Given the description of an element on the screen output the (x, y) to click on. 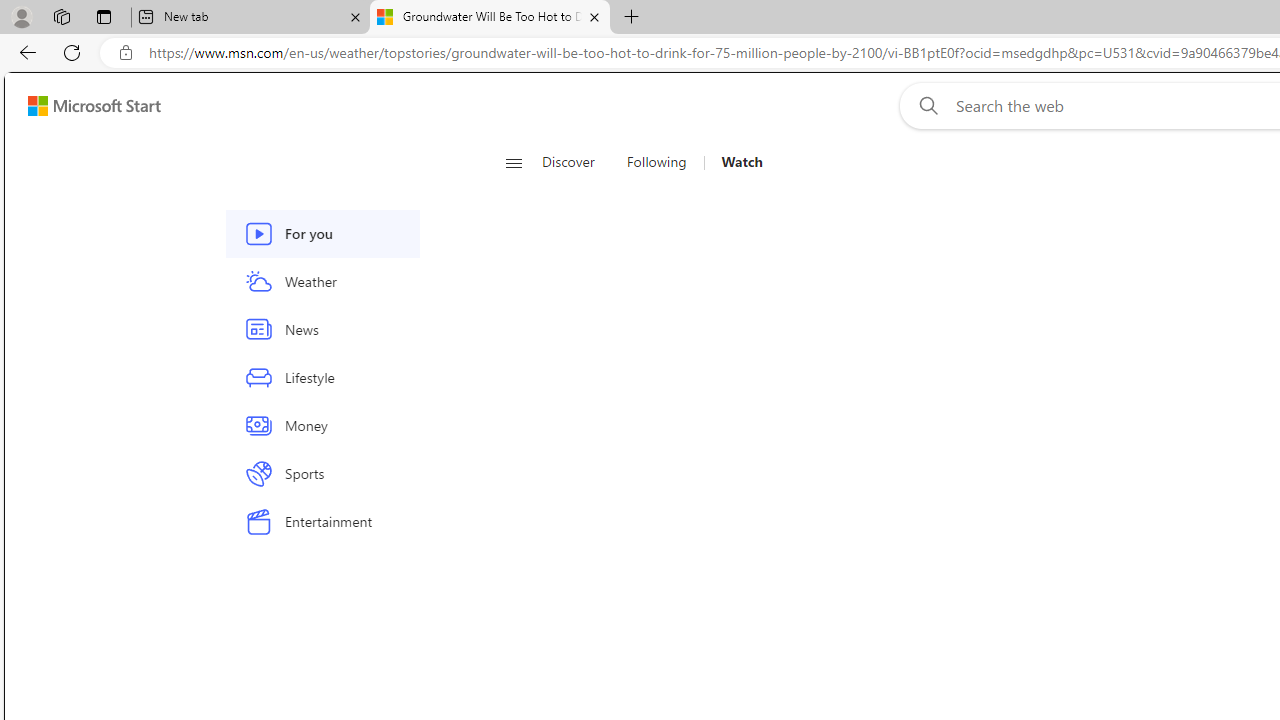
Web search (924, 105)
Class: button-glyph (513, 162)
